Given the description of an element on the screen output the (x, y) to click on. 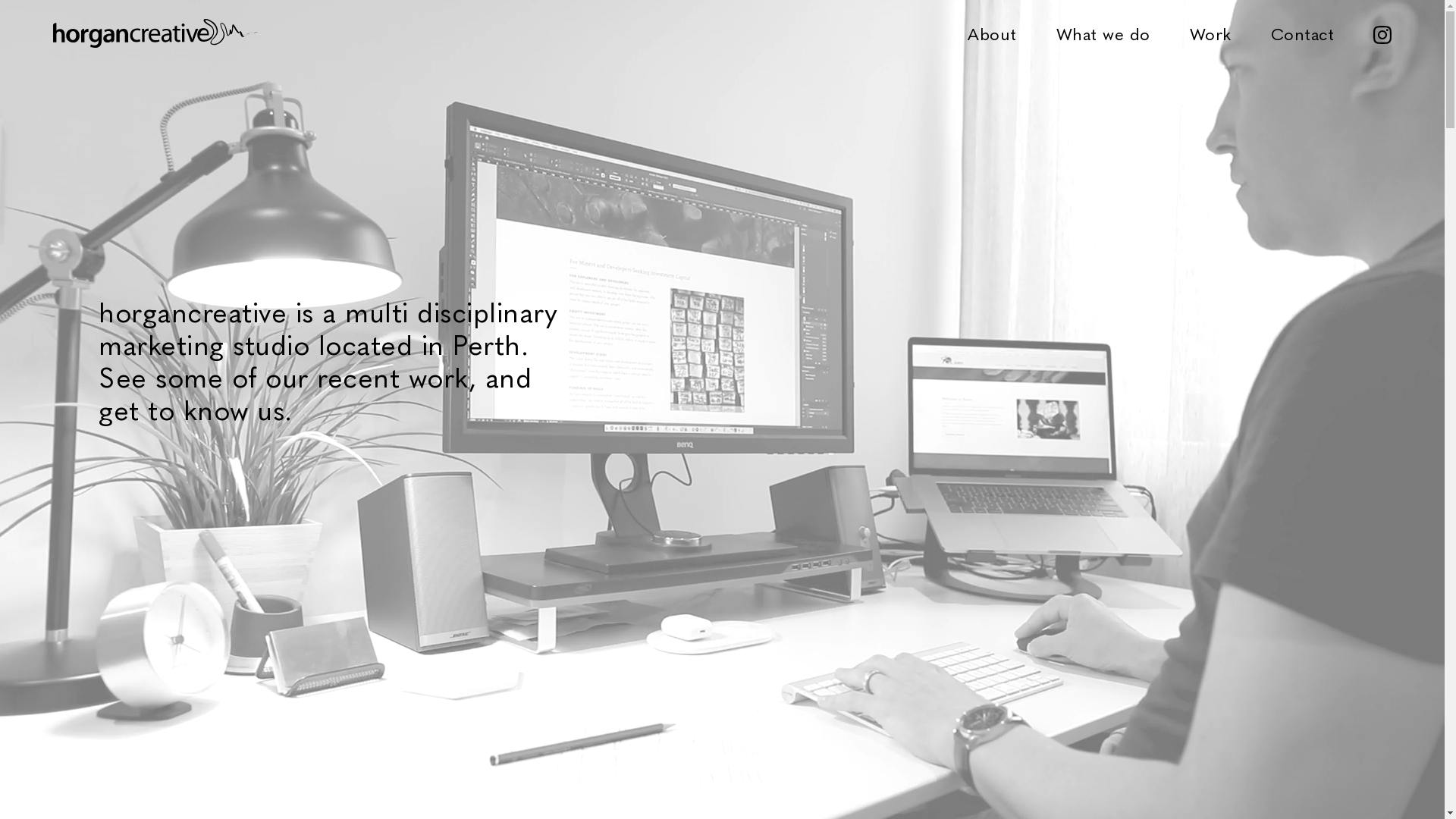
Work Element type: text (1209, 32)
About Element type: text (991, 32)
Instagram Element type: hover (1382, 32)
Contact Element type: text (1302, 32)
What we do Element type: text (1102, 32)
